Given the description of an element on the screen output the (x, y) to click on. 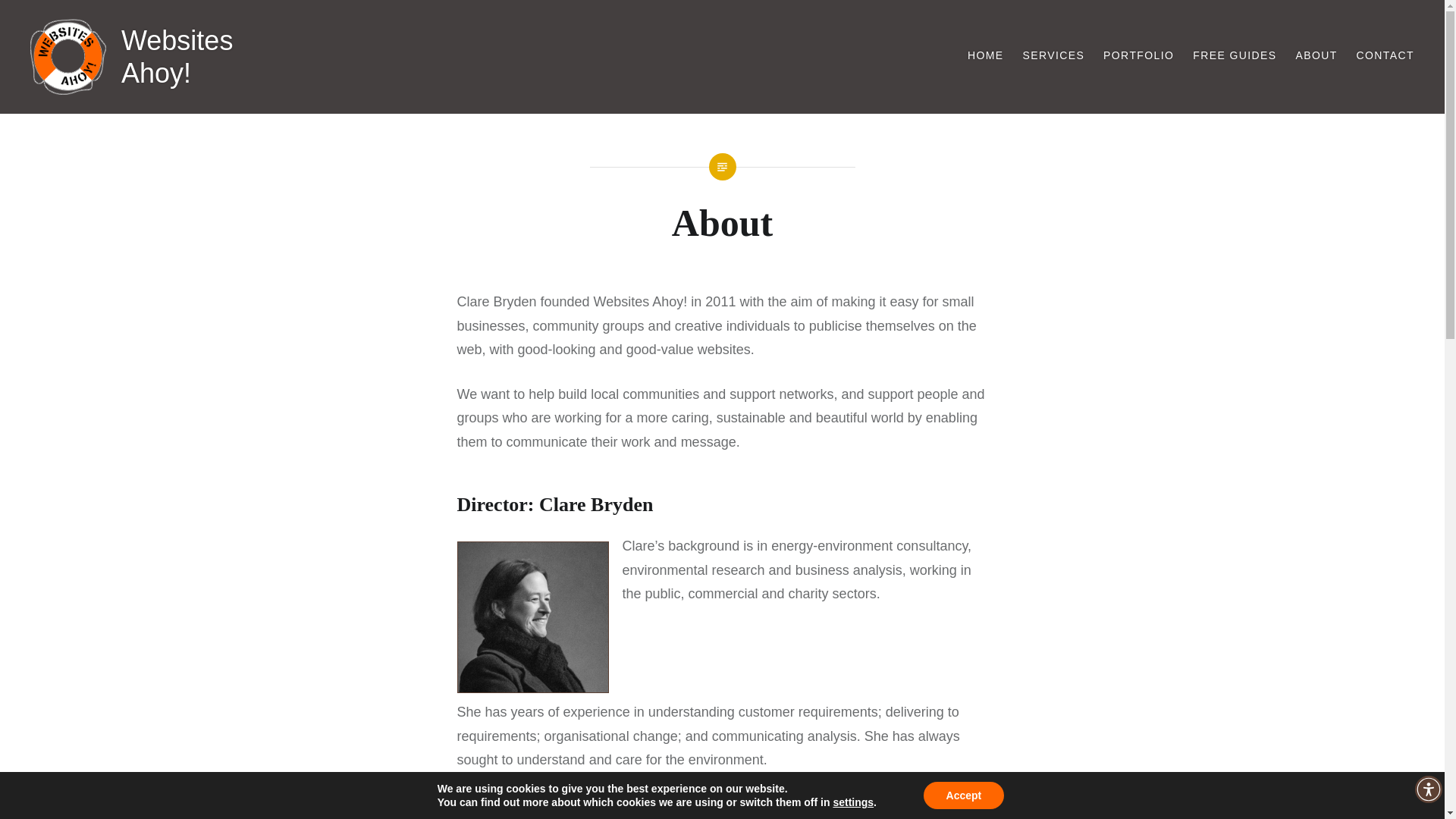
FREE GUIDES (1234, 55)
HOME (986, 55)
SERVICES (1053, 55)
Accessibility Menu (1428, 789)
PORTFOLIO (1138, 55)
Accept (963, 795)
settings (852, 802)
Websites Ahoy! (176, 56)
ABOUT (1315, 55)
CONTACT (1384, 55)
